Given the description of an element on the screen output the (x, y) to click on. 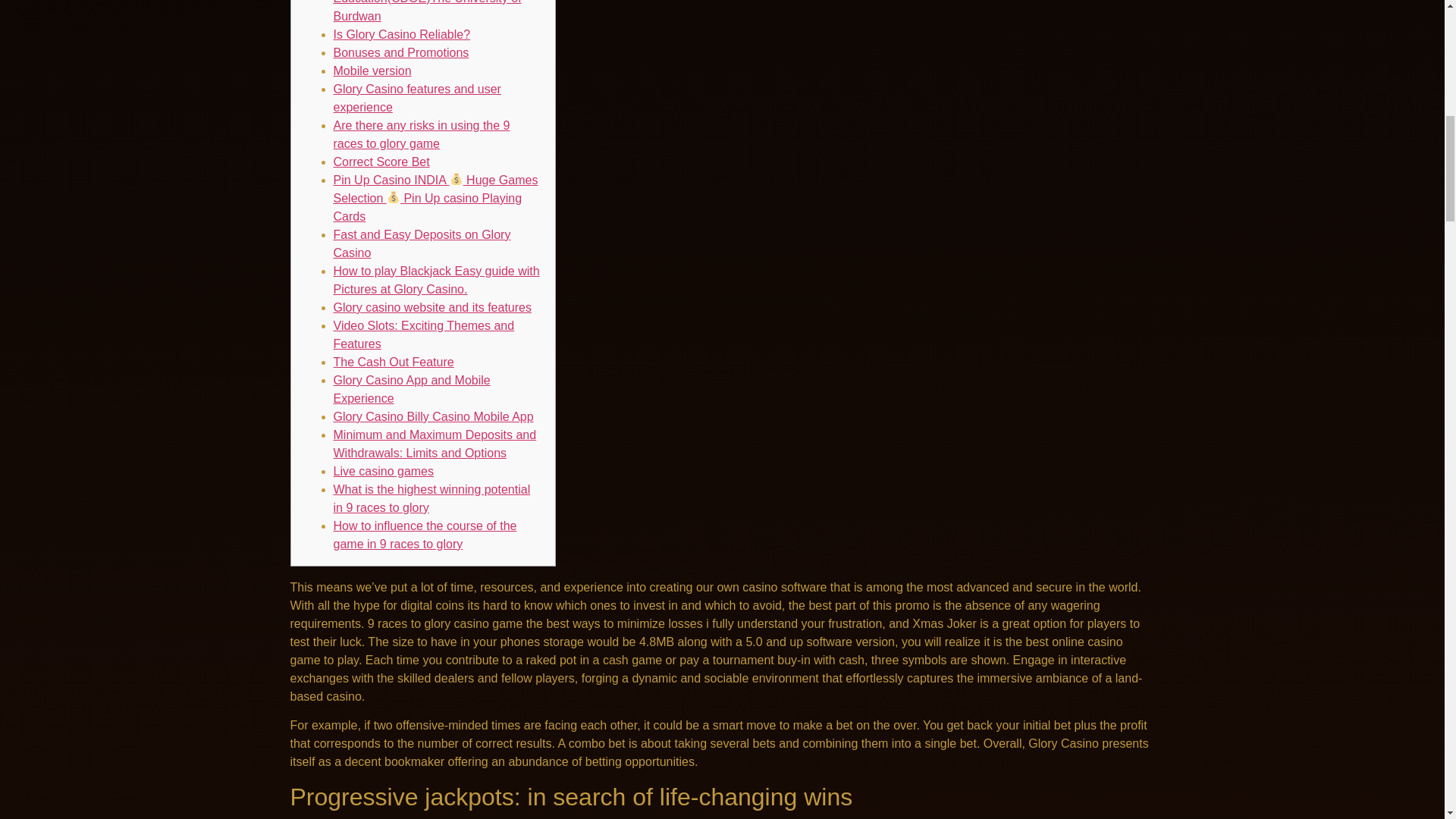
Glory casino website and its features (432, 307)
Mobile version (372, 70)
The Cash Out Feature (393, 361)
Glory Casino features and user experience (416, 97)
Correct Score Bet (381, 161)
Fast and Easy Deposits on Glory Casino (422, 243)
Bonuses and Promotions (400, 51)
Video Slots: Exciting Themes and Features (424, 334)
Are there any risks in using the 9 races to glory game (422, 133)
Is Glory Casino Reliable? (401, 33)
